Given the description of an element on the screen output the (x, y) to click on. 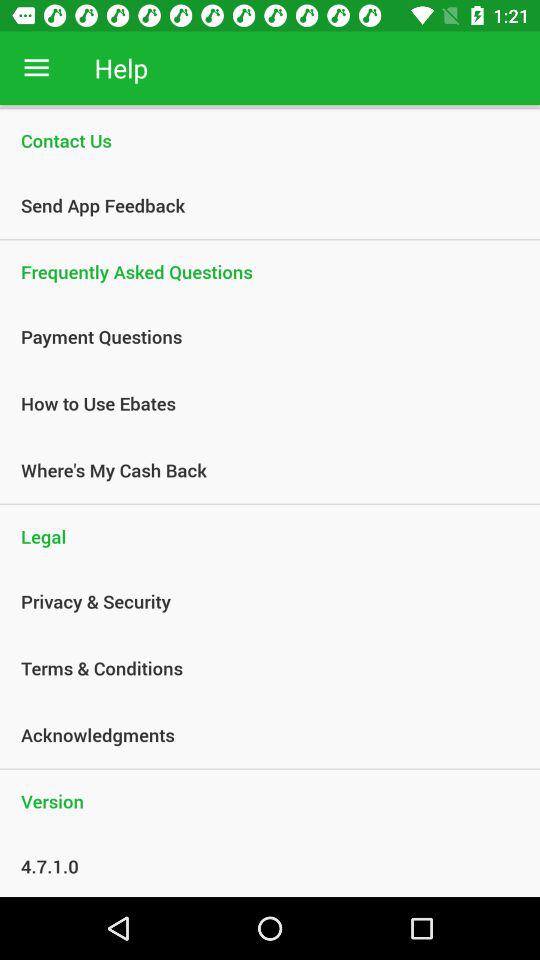
jump to the how to use icon (259, 403)
